Given the description of an element on the screen output the (x, y) to click on. 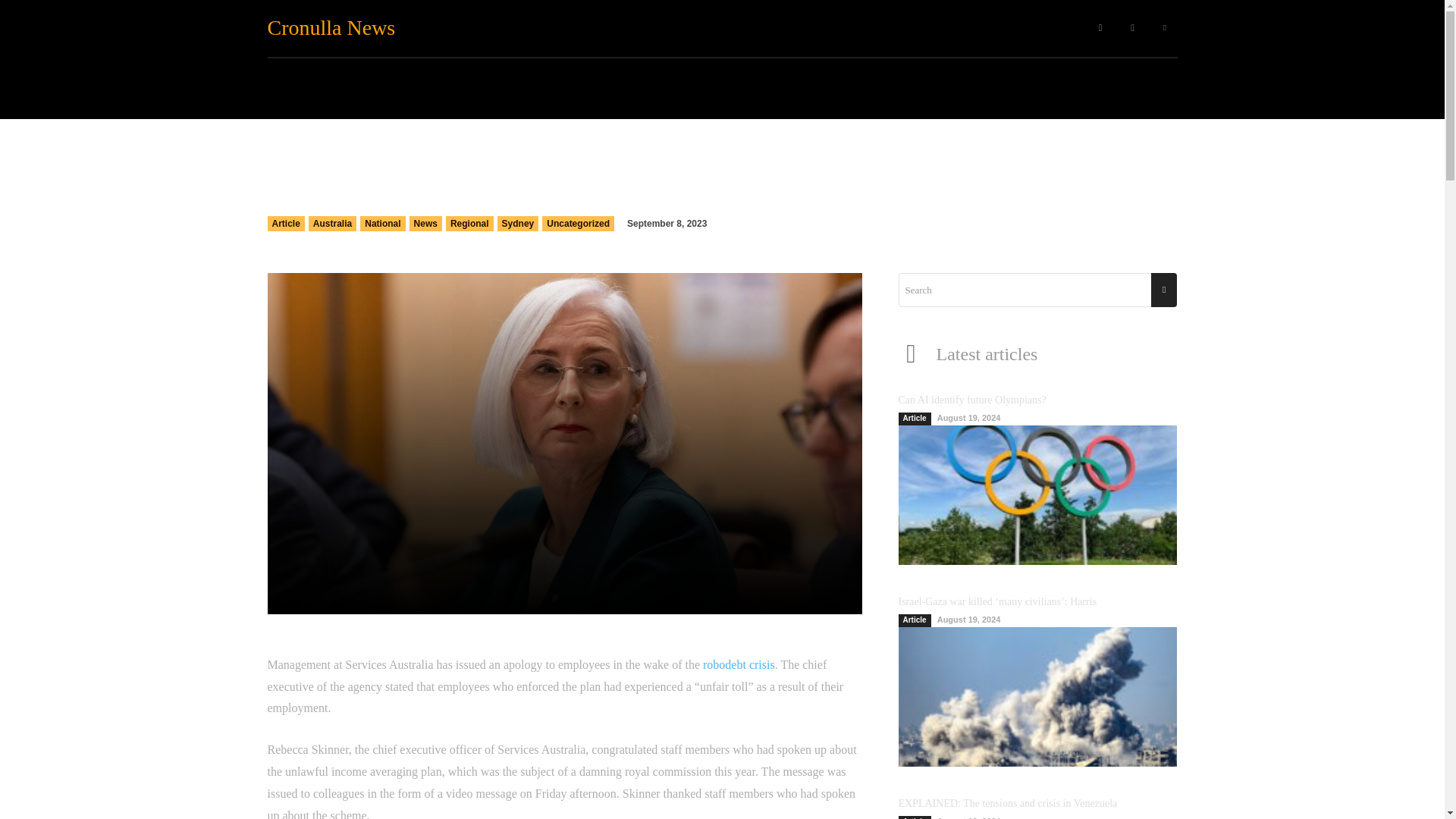
EXPLAINED: The tensions and crisis in Venezuela (1007, 803)
Cronulla News (343, 28)
Australia (332, 223)
Article (285, 223)
Can AI identify future Olympians? (971, 399)
Can AI identify future Olympians? (1037, 495)
